Given the description of an element on the screen output the (x, y) to click on. 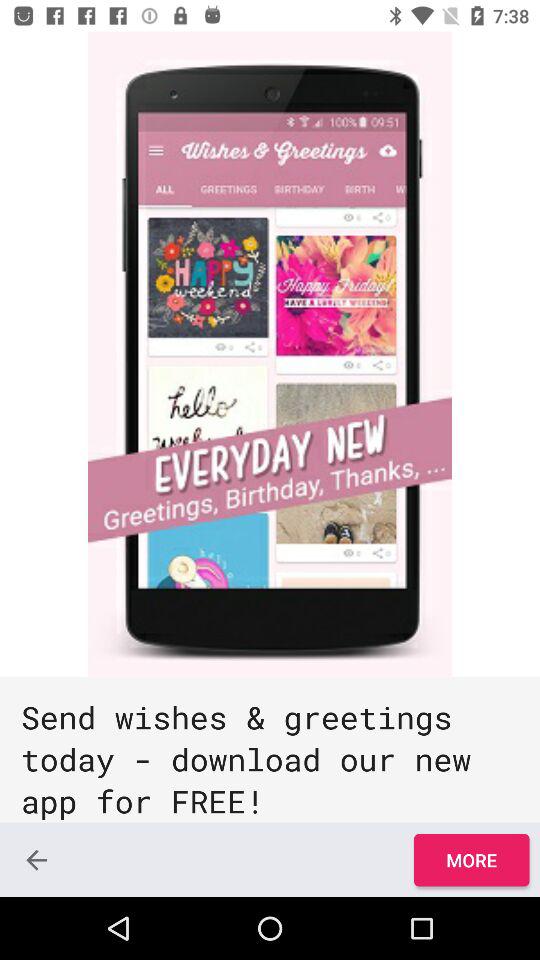
choose the icon above send wishes greetings item (270, 353)
